Given the description of an element on the screen output the (x, y) to click on. 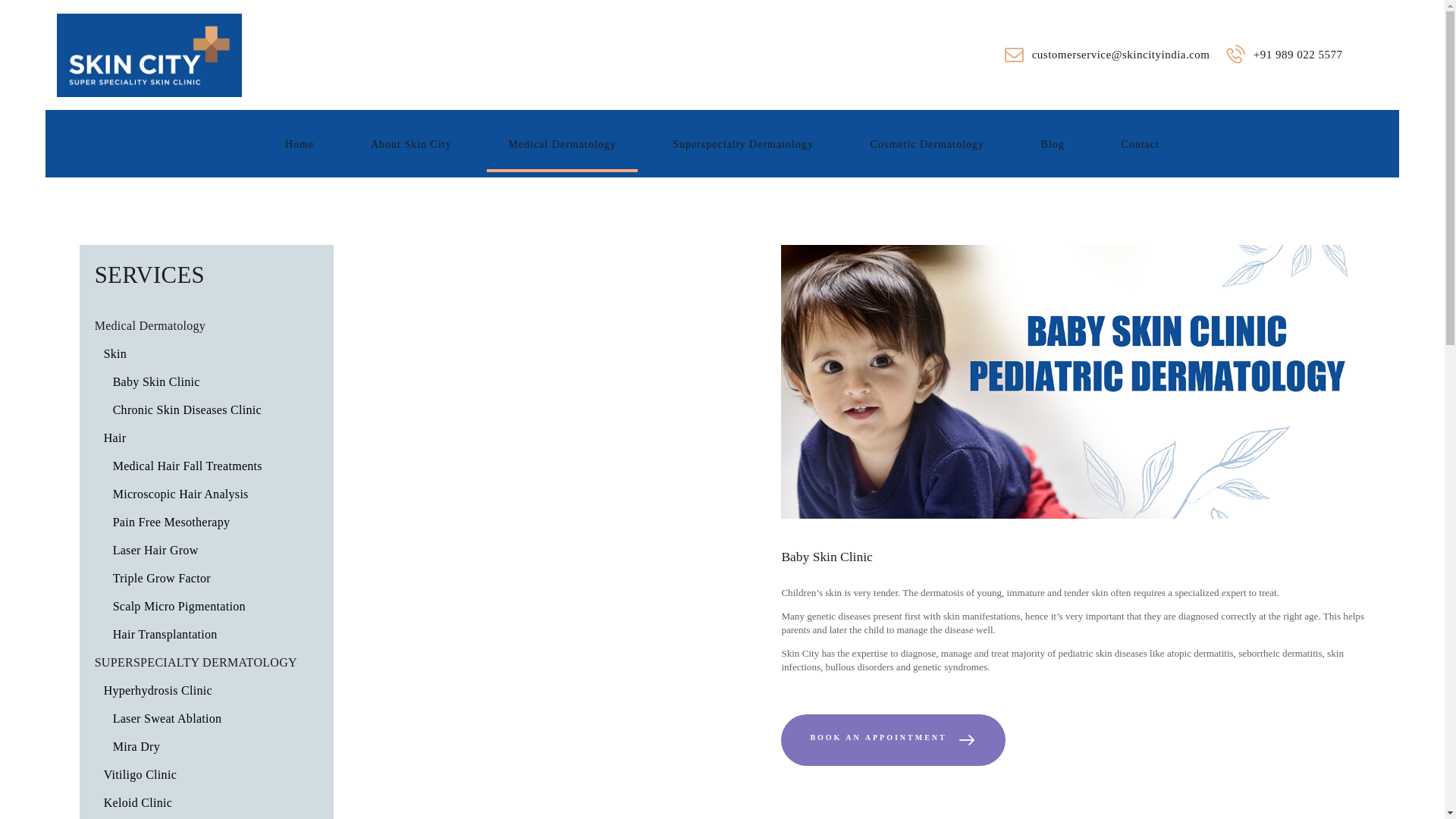
Home (298, 144)
Cosmetic Dermatology (927, 144)
About Skin City (411, 144)
Medical Dermatology (561, 144)
Superspecialty Dermatology (742, 144)
